Given the description of an element on the screen output the (x, y) to click on. 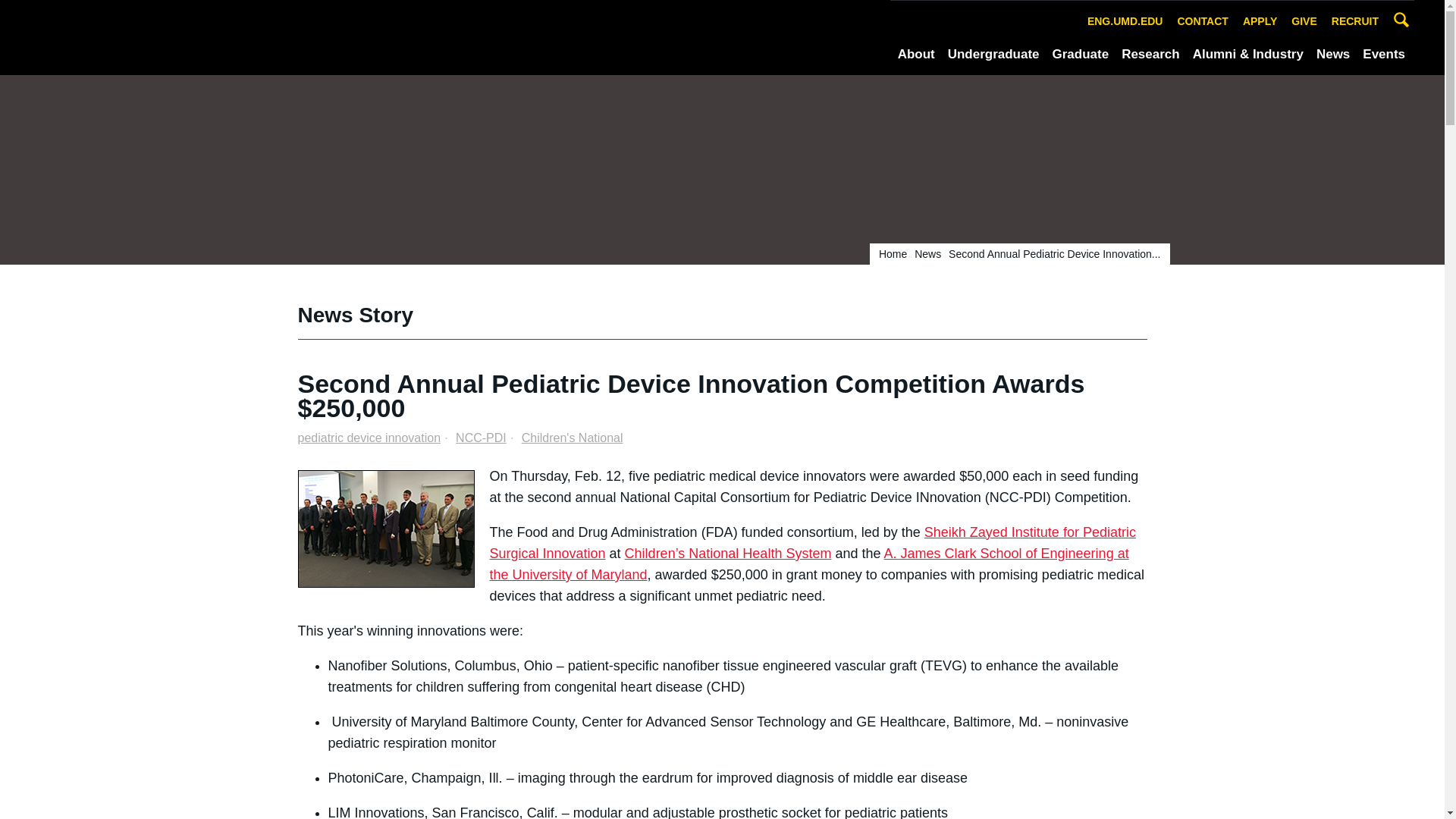
Undergraduate (993, 54)
CONTACT (1202, 22)
ENG.UMD.EDU (1125, 22)
About (916, 54)
RECRUIT (1355, 22)
GIVE (1303, 22)
APPLY (1259, 22)
